Given the description of an element on the screen output the (x, y) to click on. 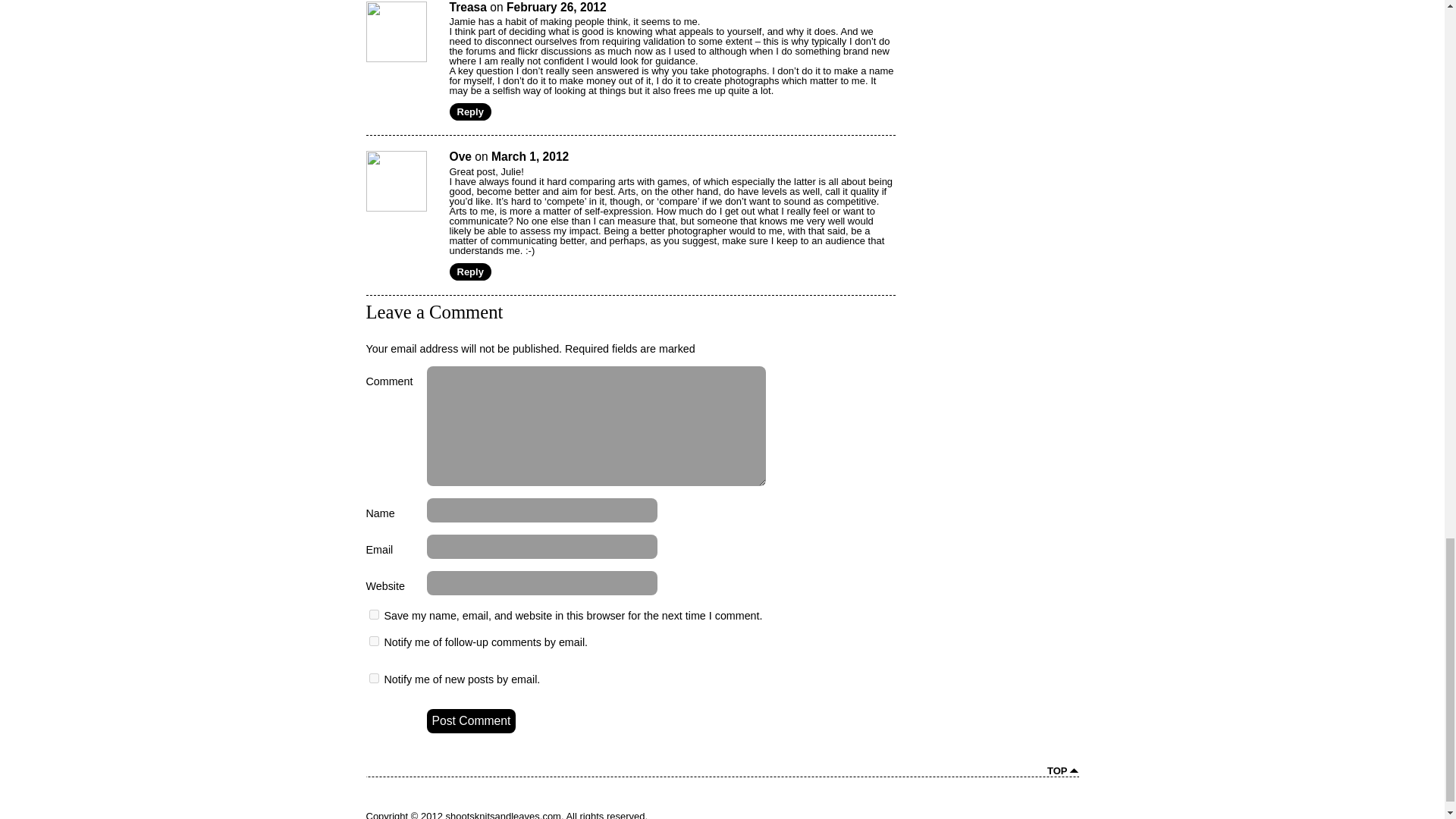
Wordspop (1042, 811)
subscribe (373, 641)
Treasa (467, 6)
Reply (469, 111)
yes (373, 614)
Ove (459, 155)
February 26, 2012 (556, 6)
March 1, 2012 (530, 155)
subscribe (373, 678)
Reply (469, 271)
TOP (1062, 770)
Post Comment (470, 721)
Post Comment (470, 721)
